Given the description of an element on the screen output the (x, y) to click on. 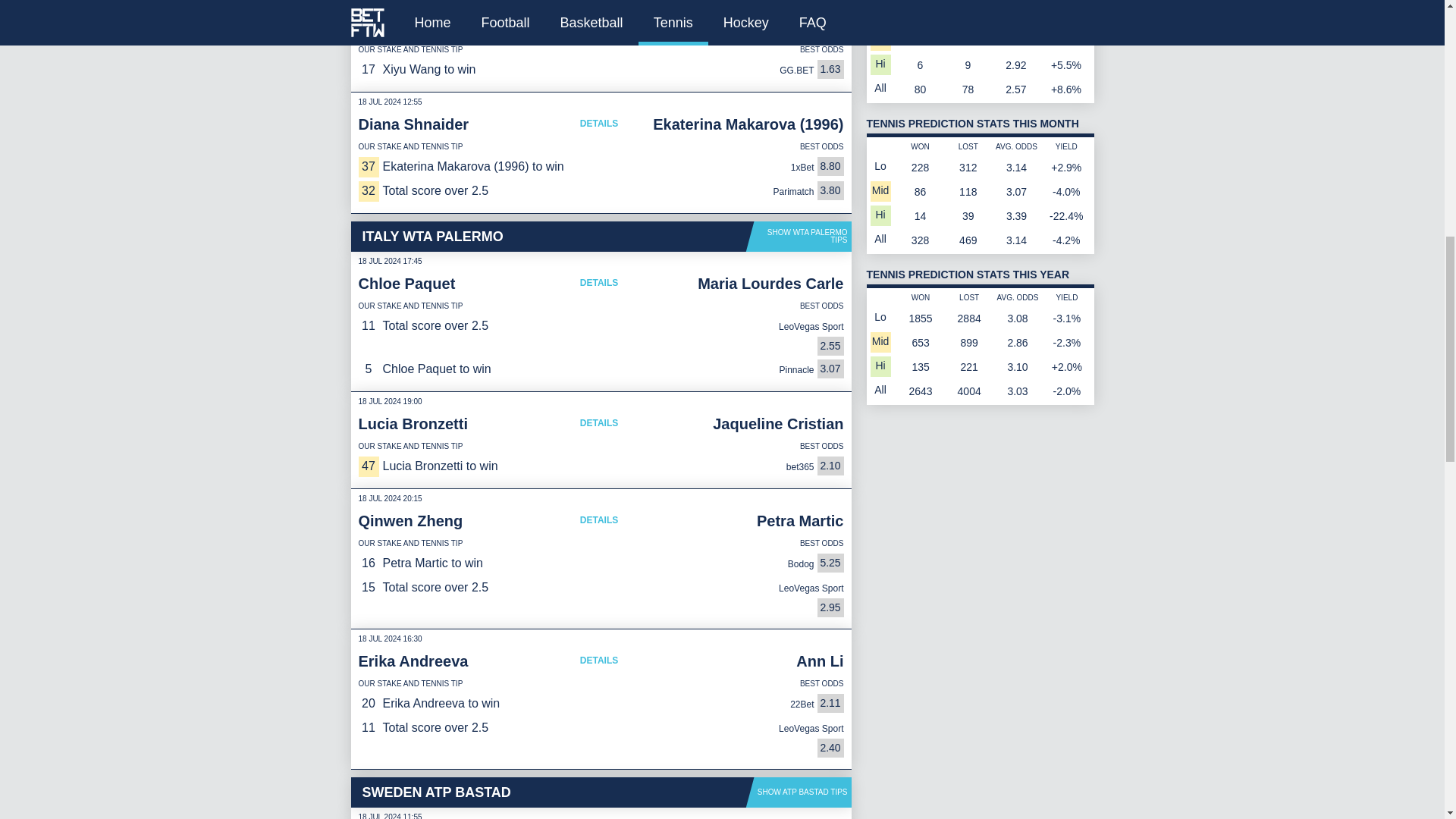
DETAILS (599, 422)
DETAILS (599, 282)
DETAILS (599, 123)
DETAILS (599, 26)
DETAILS (599, 519)
SHOW WTA PALERMO TIPS (799, 236)
DETAILS (599, 660)
SHOW ATP BASTAD TIPS (799, 792)
